Given the description of an element on the screen output the (x, y) to click on. 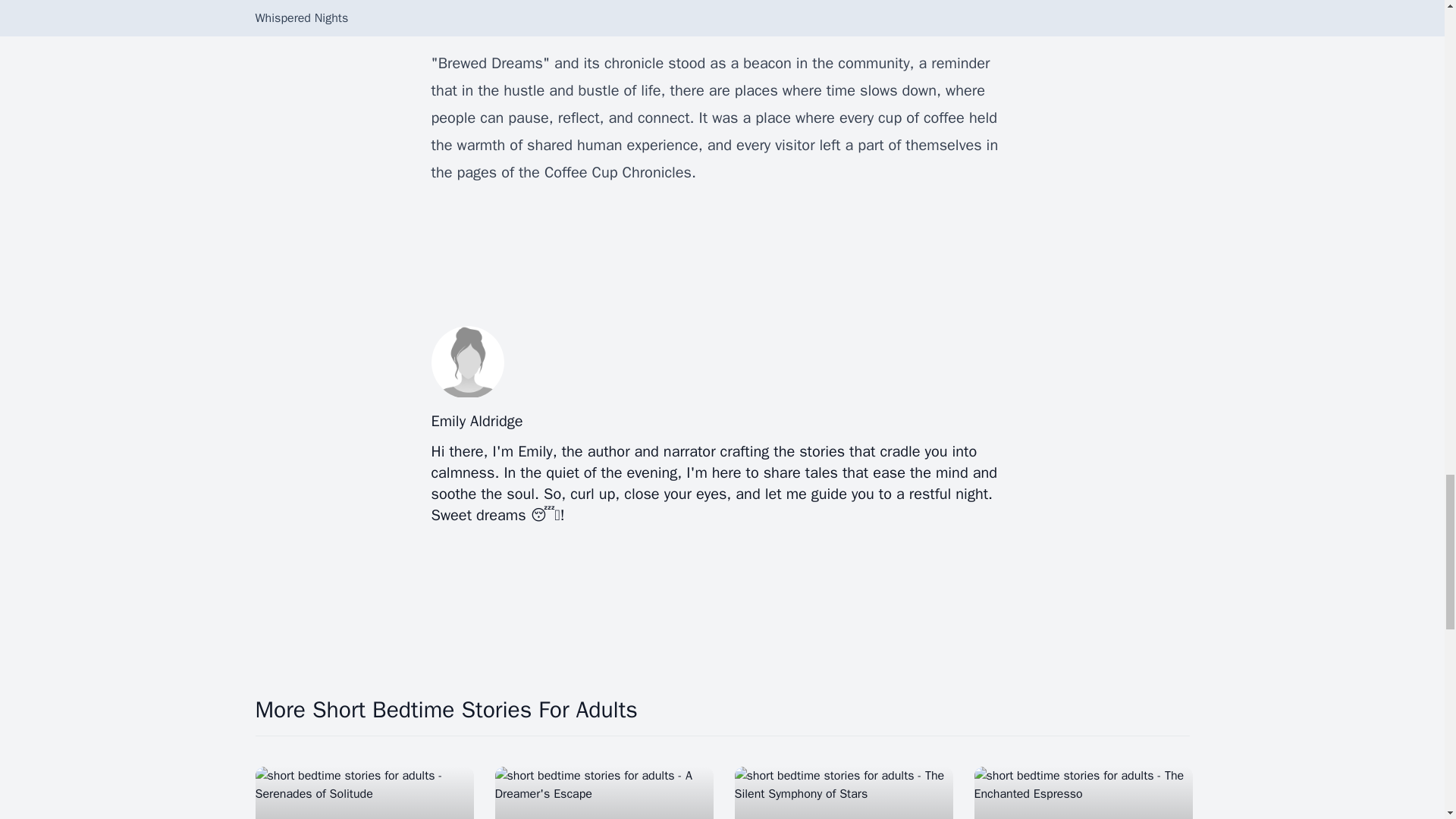
More Short Bedtime Stories For Adults (721, 709)
